Given the description of an element on the screen output the (x, y) to click on. 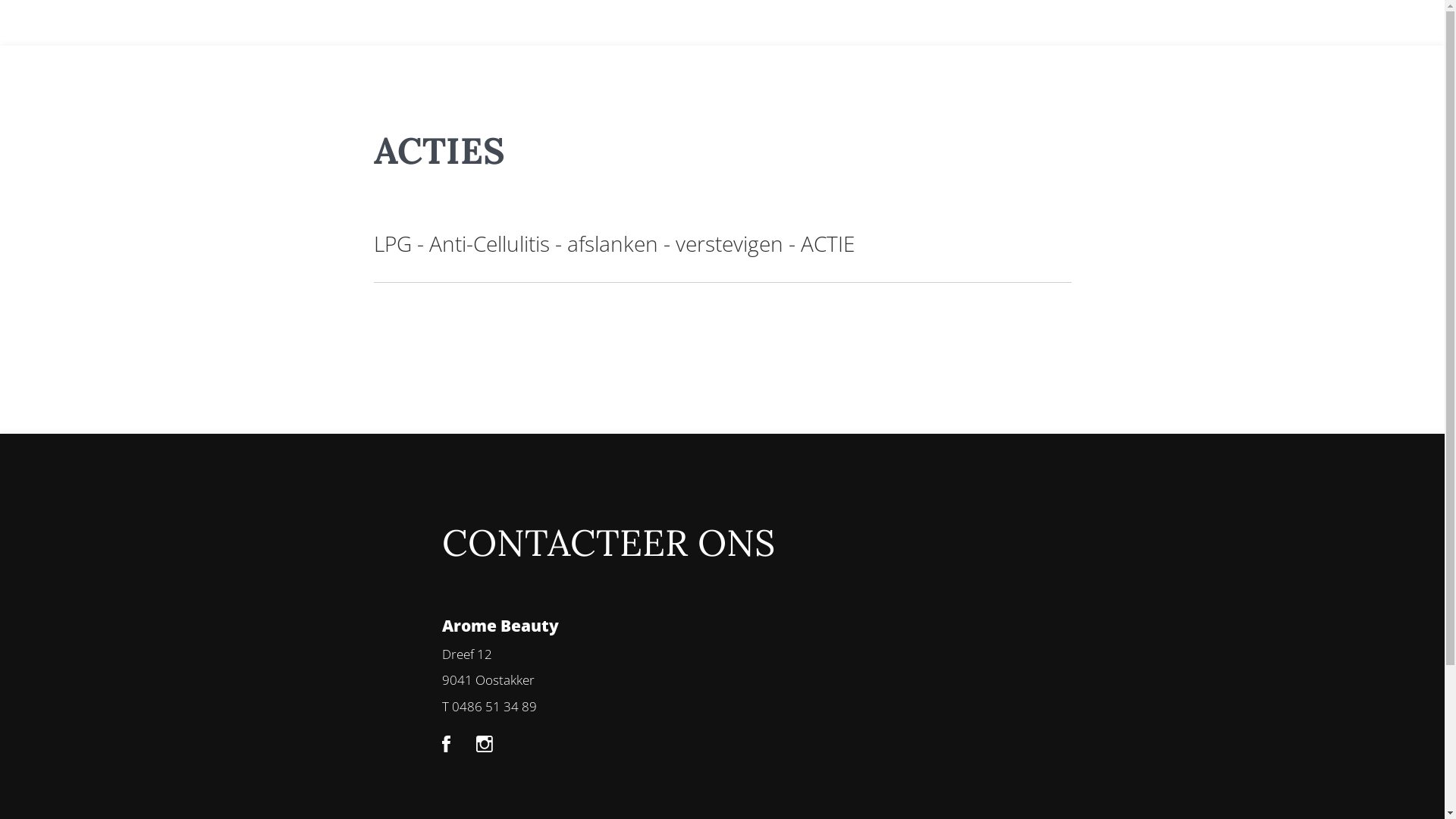
LPG - Anti-Cellulitis - afslanken - verstevigen - ACTIE Element type: text (613, 243)
